Given the description of an element on the screen output the (x, y) to click on. 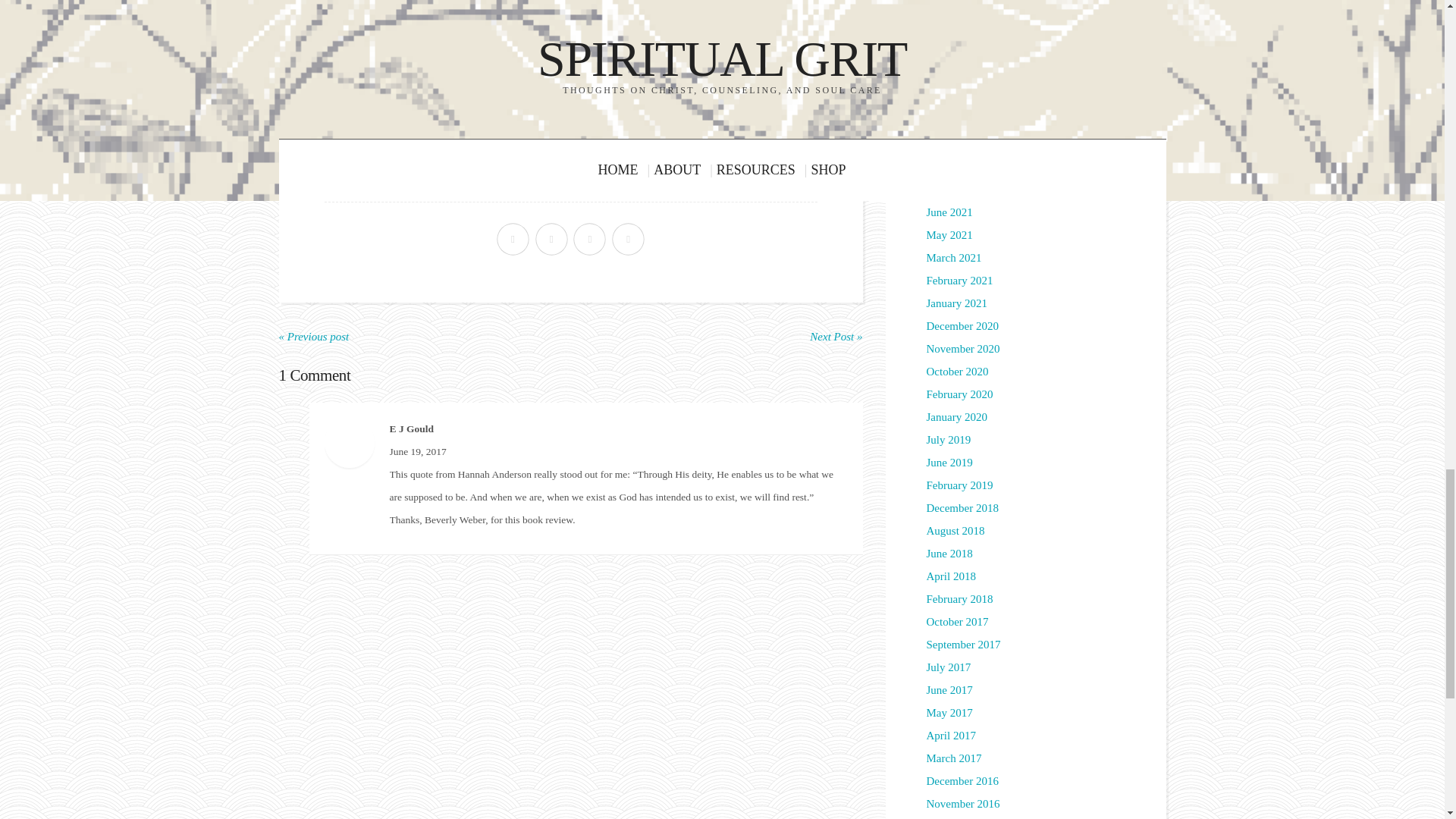
December 2023 (962, 52)
January 2022 (956, 166)
January 2023 (956, 98)
March 2023 (953, 75)
June 2021 (949, 212)
February 2022 (959, 143)
July 2022 (948, 121)
July 2021 (948, 189)
